Given the description of an element on the screen output the (x, y) to click on. 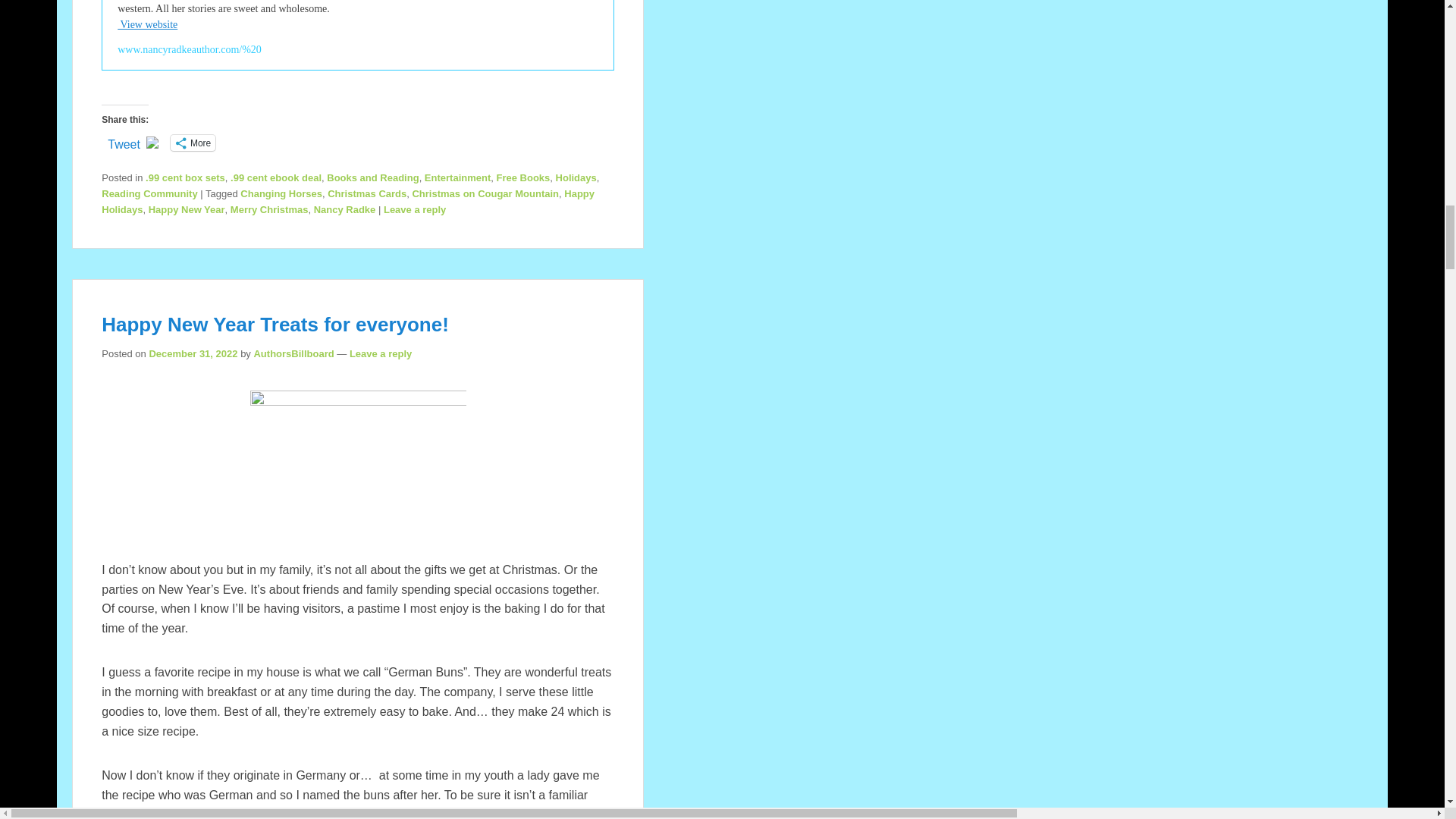
Reading Community (148, 193)
1:09 pm (192, 353)
Free Books (523, 177)
Entertainment (457, 177)
.99 cent box sets (185, 177)
.99 cent ebook deal (275, 177)
Holidays (576, 177)
Tweet (123, 141)
More (192, 142)
 View website (147, 24)
Books and Reading (372, 177)
Permalink to Happy New Year Treats for everyone! (274, 323)
View all posts by AuthorsBillboard (293, 353)
